Given the description of an element on the screen output the (x, y) to click on. 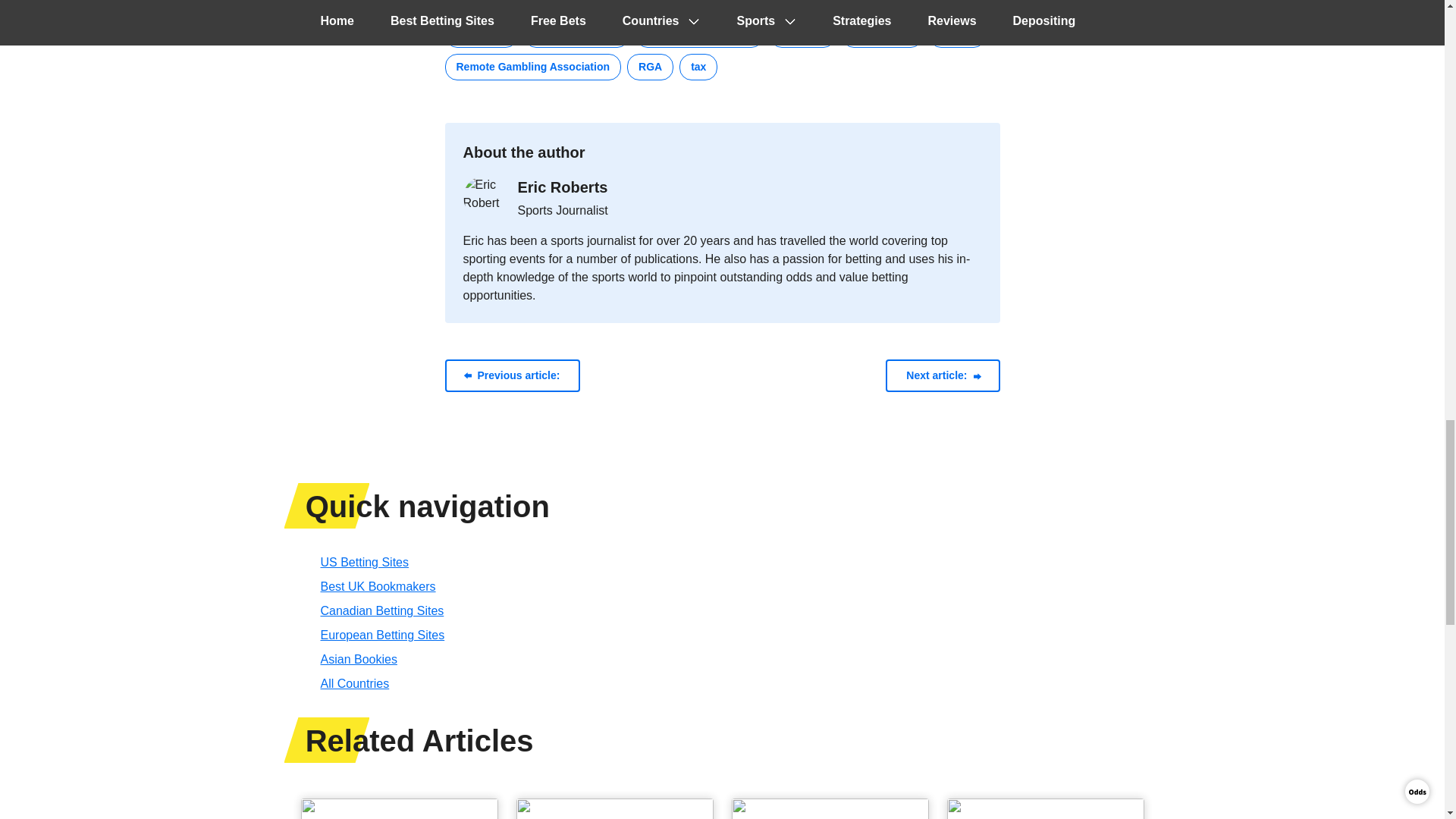
US Betting Sites (364, 562)
Next article: (941, 375)
Previous article: (511, 375)
Best UK Bookmakers (377, 585)
